Given the description of an element on the screen output the (x, y) to click on. 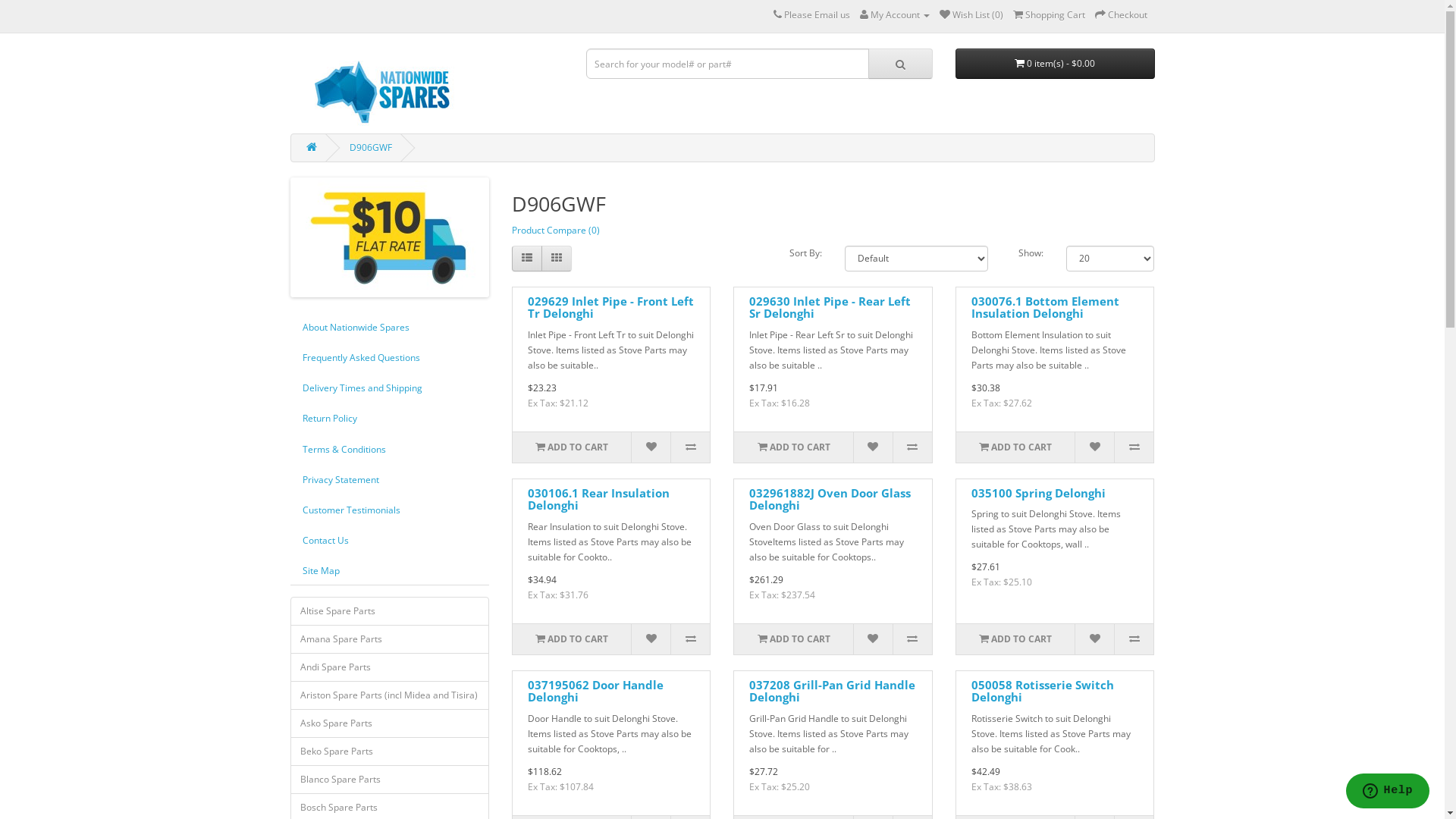
Altise Spare Parts Element type: text (389, 610)
Checkout Element type: text (1121, 14)
ADD TO CART Element type: text (793, 639)
050058 Rotisserie Switch Delonghi Element type: text (1042, 691)
Asko Spare Parts Element type: text (389, 723)
0 item(s) - $0.00 Element type: text (1054, 63)
D906GWF Element type: text (369, 147)
Beko Spare Parts Element type: text (389, 751)
Product Compare (0) Element type: text (555, 229)
ADD TO CART Element type: text (571, 639)
030106.1 Rear Insulation Delonghi Element type: text (598, 499)
Ariston Spare Parts (incl Midea and Tisira) Element type: text (389, 694)
Shopping Cart Element type: text (1049, 14)
Wish List (0) Element type: text (970, 14)
Frequently Asked Questions Element type: text (388, 357)
Contact Us Element type: text (388, 540)
Amana Spare Parts Element type: text (389, 638)
Blanco Spare Parts Element type: text (389, 779)
Opens a widget where you can chat to one of our agents Element type: hover (1387, 792)
About Nationwide Spares Element type: text (388, 327)
037208 Grill-Pan Grid Handle Delonghi Element type: text (832, 691)
032961882J Oven Door Glass Delonghi Element type: text (829, 499)
ADD TO CART Element type: text (1015, 447)
ADD TO CART Element type: text (1015, 639)
Privacy Statement Element type: text (388, 479)
035100 Spring Delonghi Element type: text (1038, 492)
Return Policy Element type: text (388, 418)
ADD TO CART Element type: text (571, 447)
029630 Inlet Pipe - Rear Left Sr Delonghi Element type: text (829, 307)
Nationwide Spares Element type: hover (397, 86)
Site Map Element type: text (388, 570)
029629 Inlet Pipe - Front Left Tr Delonghi Element type: text (610, 307)
Delivery Times and Shipping Element type: text (388, 387)
030076.1 Bottom Element Insulation Delonghi Element type: text (1045, 307)
Andi Spare Parts Element type: text (389, 666)
ADD TO CART Element type: text (793, 447)
Customer Testimonials Element type: text (388, 509)
037195062 Door Handle Delonghi Element type: text (595, 691)
My Account Element type: text (894, 14)
Terms & Conditions Element type: text (388, 449)
